Given the description of an element on the screen output the (x, y) to click on. 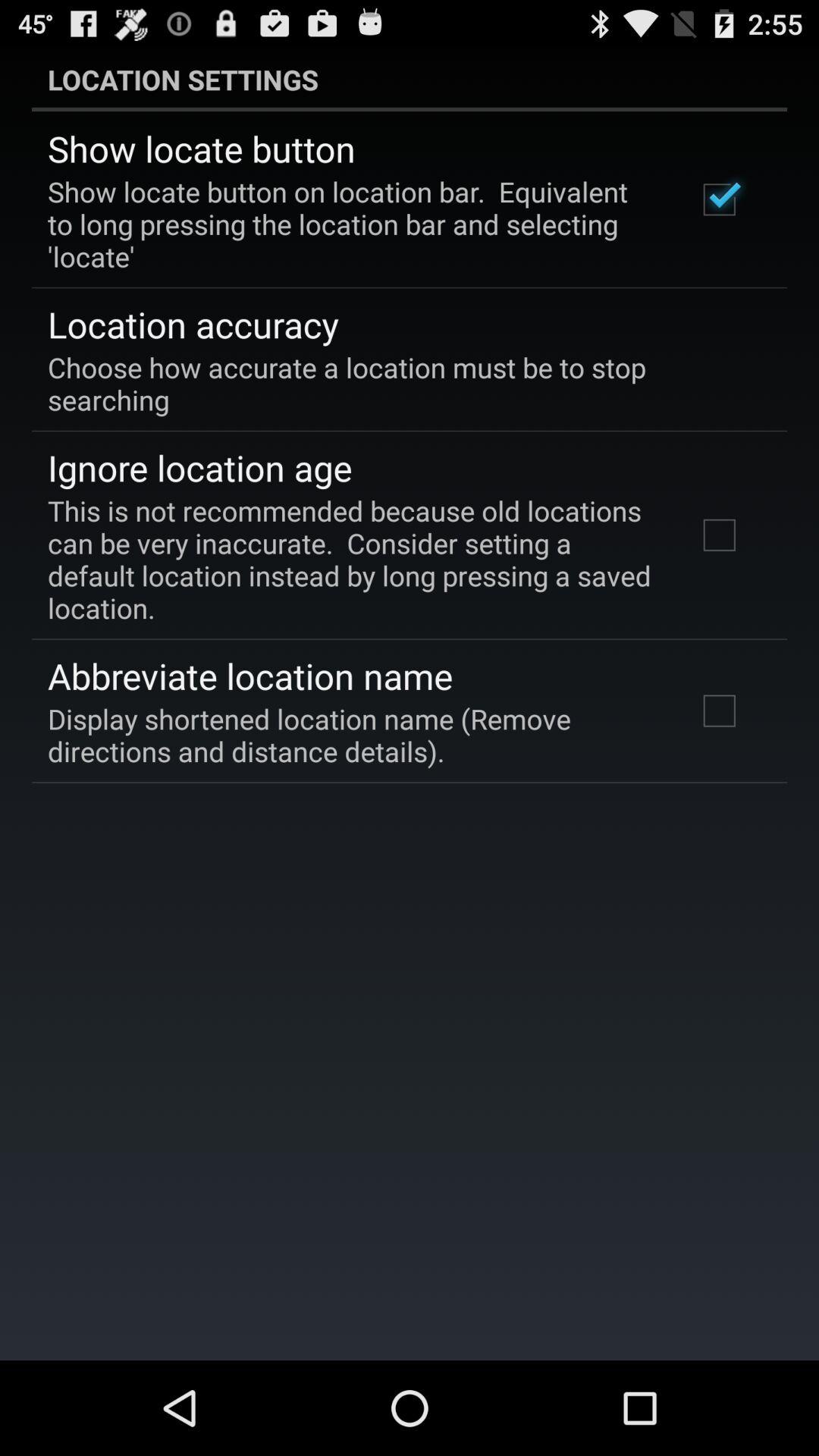
turn off icon below the location accuracy item (399, 383)
